Given the description of an element on the screen output the (x, y) to click on. 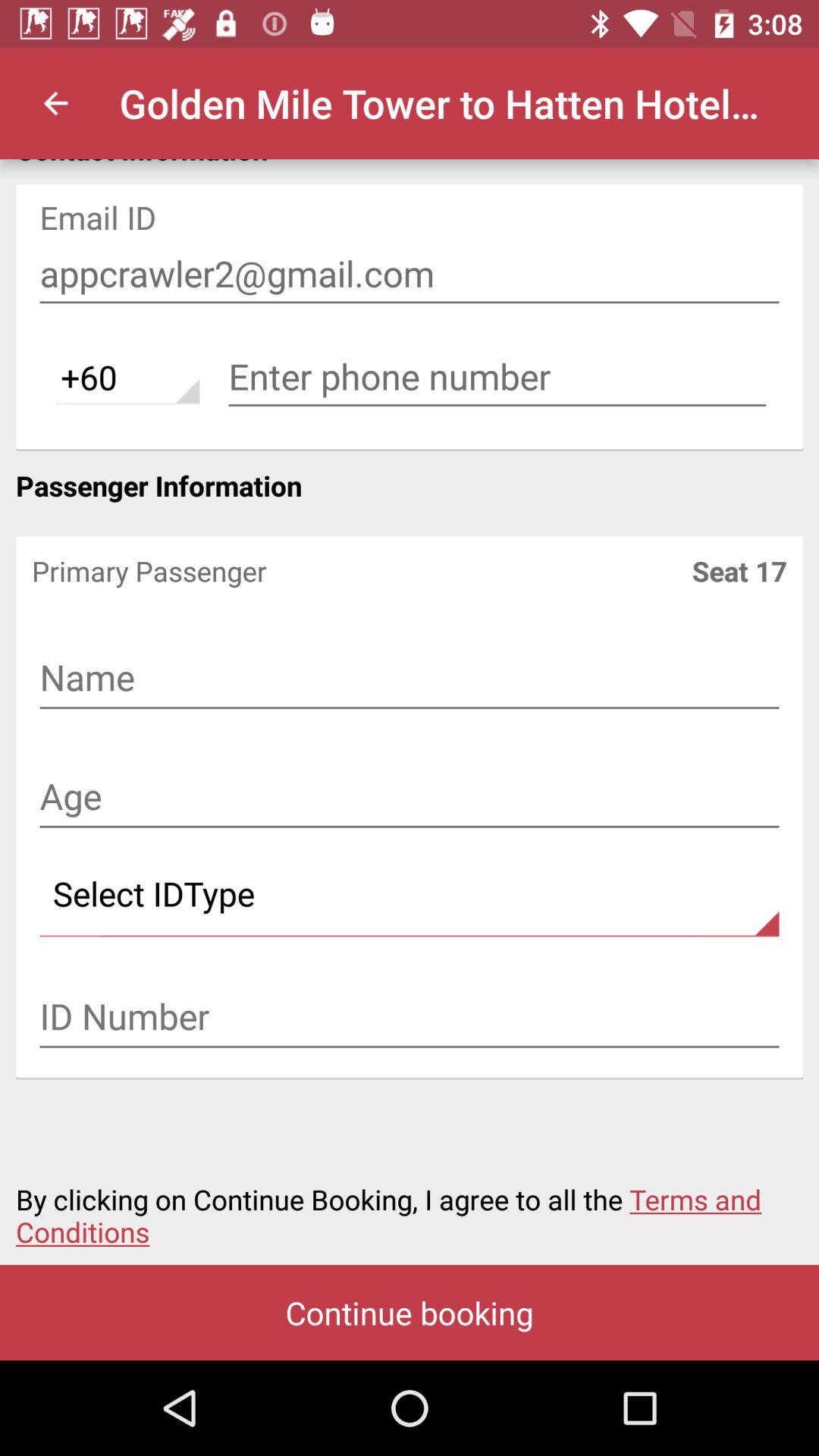
enter id number field (409, 1018)
